Given the description of an element on the screen output the (x, y) to click on. 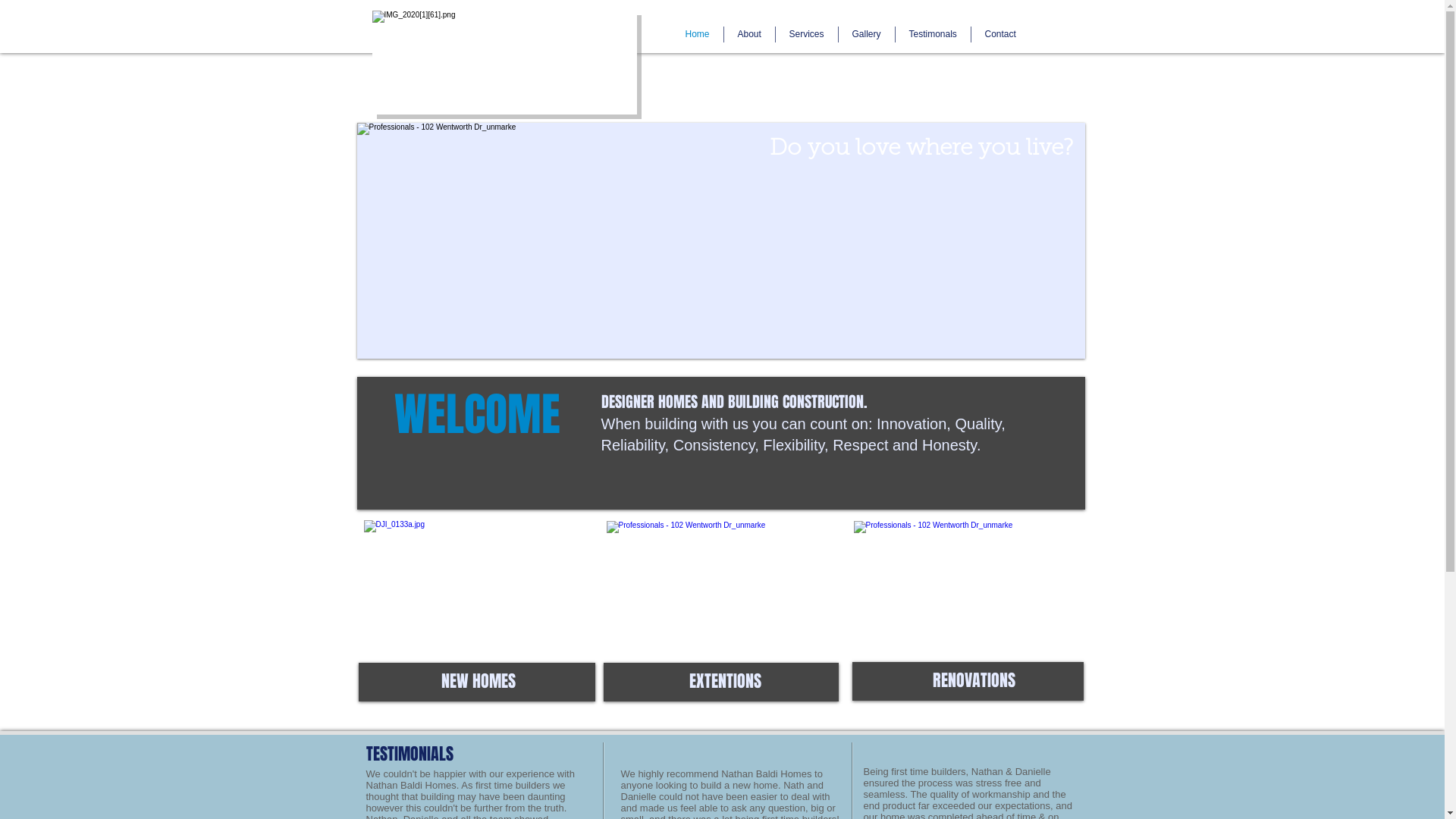
Testimonals Element type: text (931, 34)
1522626_683242355027596_1708737113_o.jpg Element type: hover (723, 586)
main.jpg Element type: hover (481, 586)
About Element type: text (748, 34)
main1.jpg 2015-9-30-11:56:23 Element type: hover (720, 240)
image7.jpg Element type: hover (969, 586)
Contact Element type: text (999, 34)
Services Element type: text (806, 34)
Home Element type: text (697, 34)
Gallery Element type: text (866, 34)
